Given the description of an element on the screen output the (x, y) to click on. 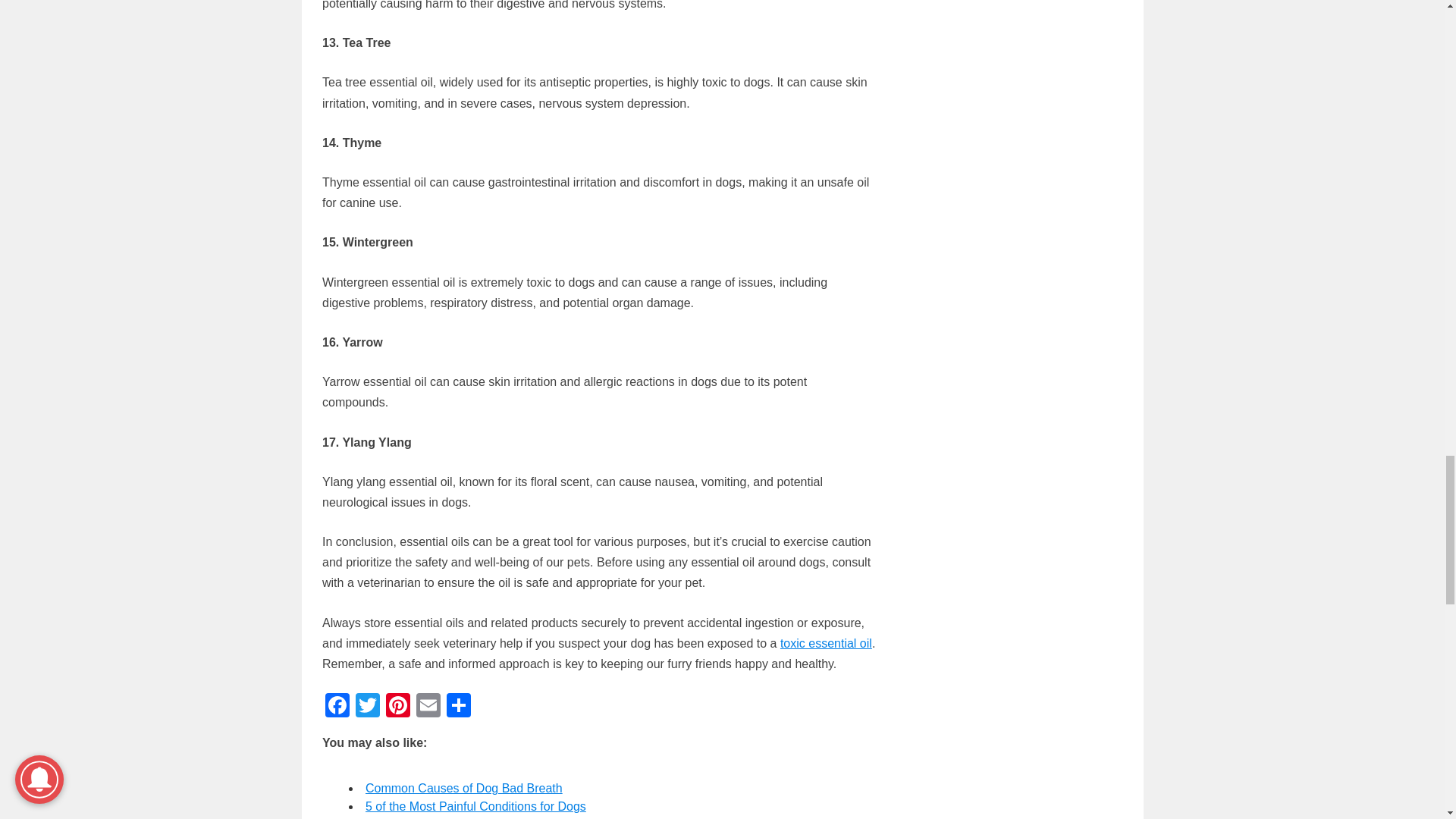
Pinterest (397, 706)
Email (428, 706)
Twitter (367, 706)
Facebook (336, 706)
